Given the description of an element on the screen output the (x, y) to click on. 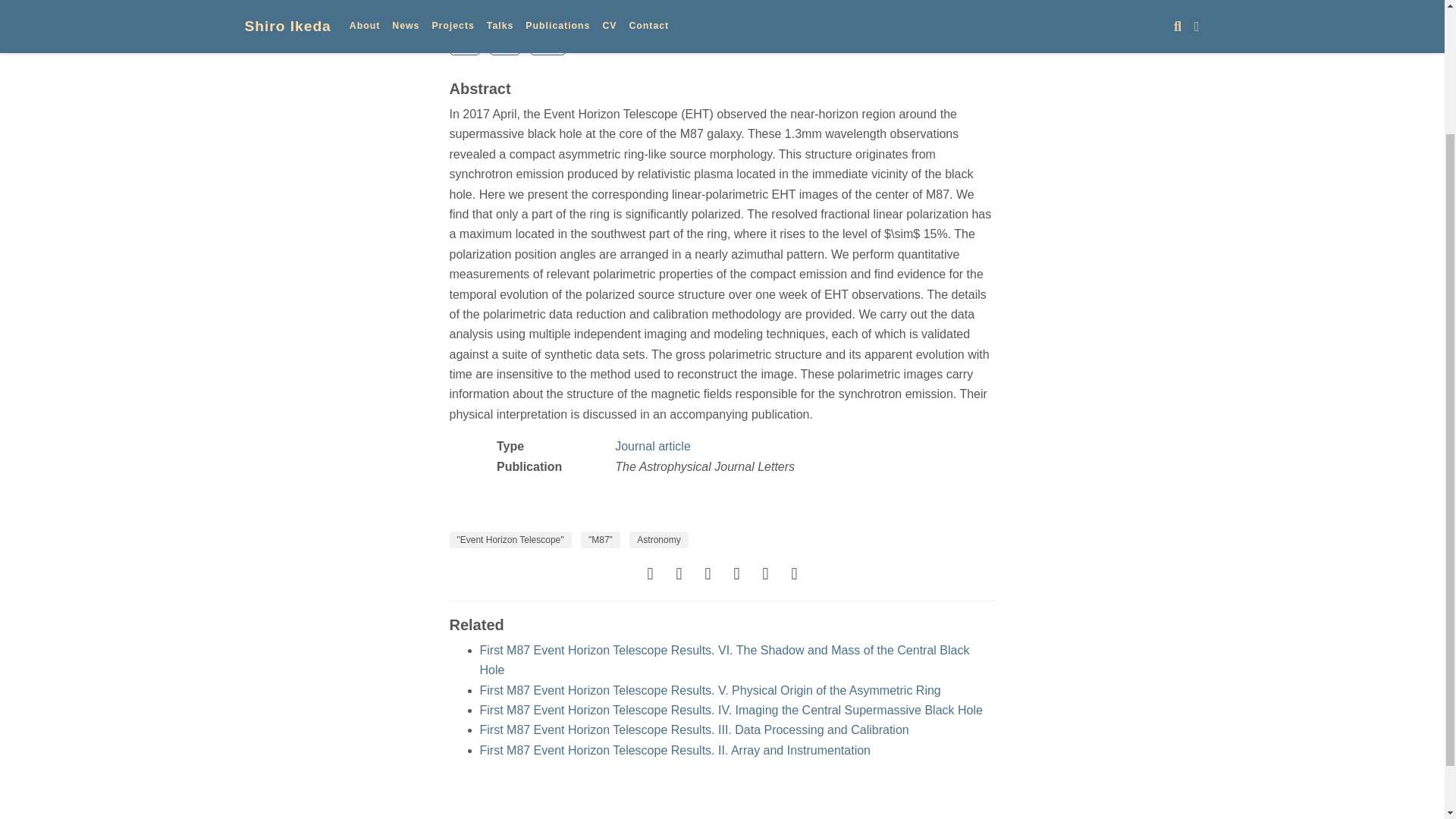
Cite (464, 45)
"M87" (600, 539)
"Event Horizon Telescope" (509, 539)
arXiv (547, 45)
Astronomy (657, 539)
DOI (505, 45)
Journal article (652, 445)
